Given the description of an element on the screen output the (x, y) to click on. 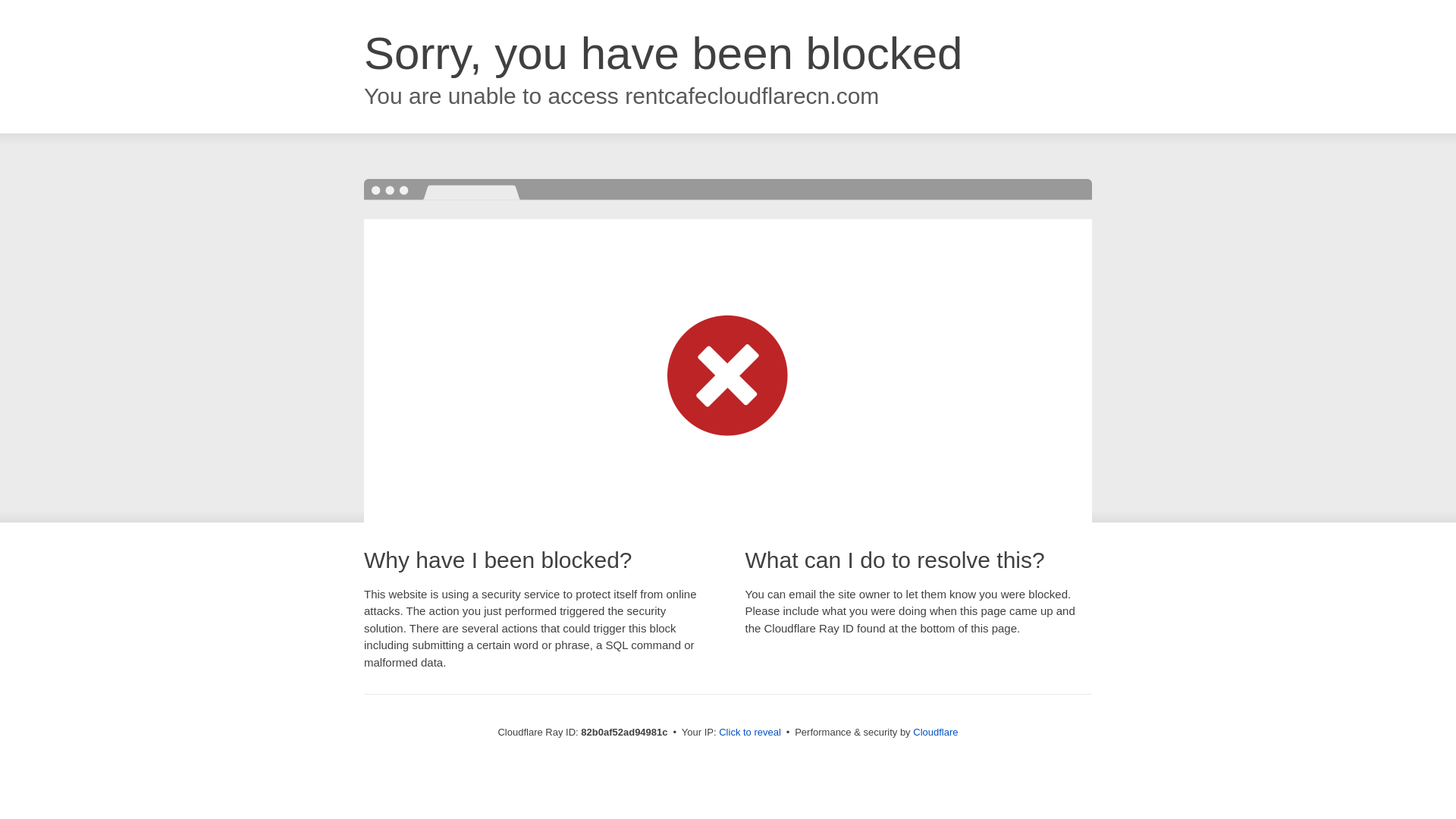
Click to reveal Element type: text (749, 732)
Cloudflare Element type: text (935, 731)
